Given the description of an element on the screen output the (x, y) to click on. 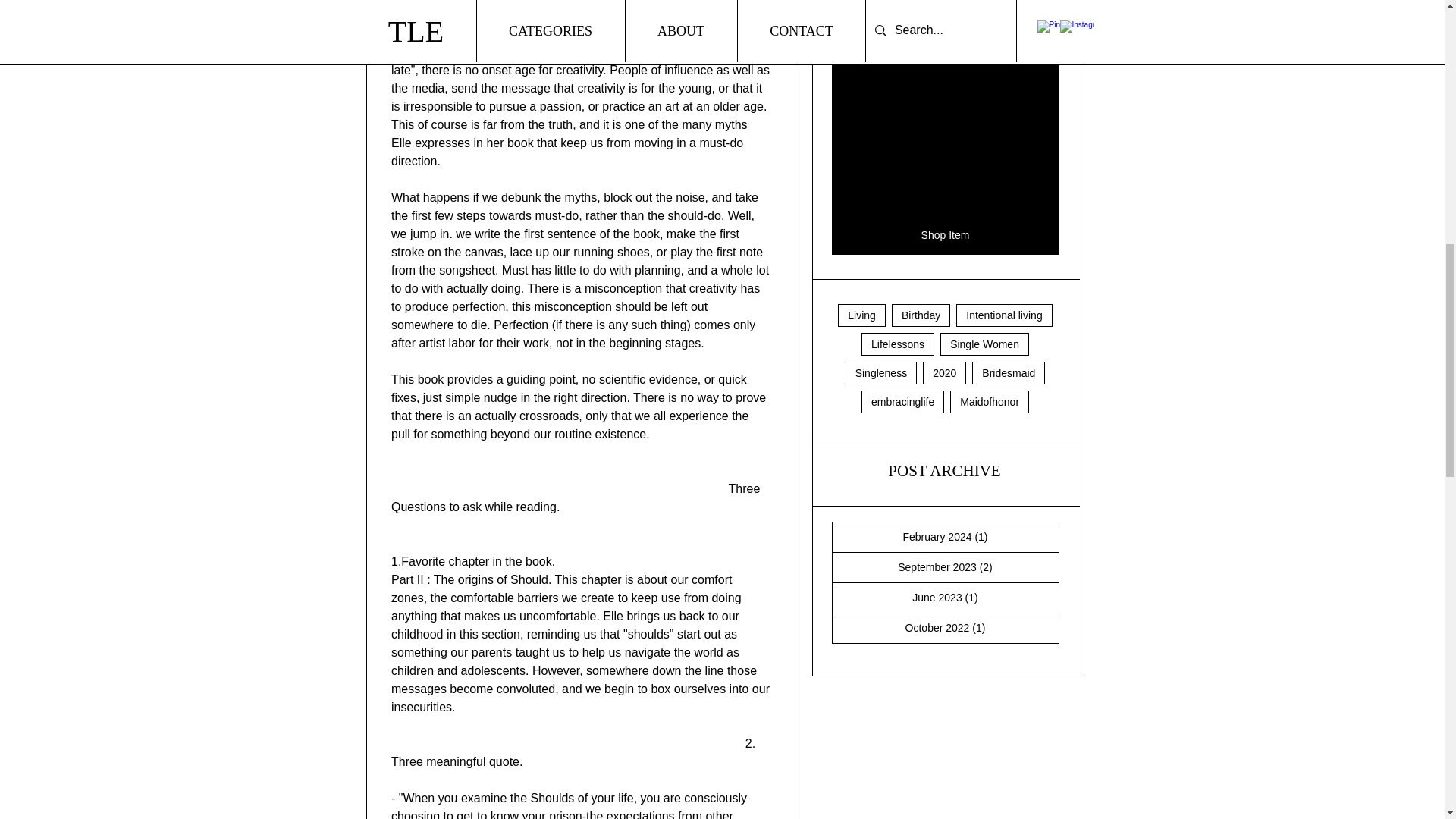
Maidofhonor (989, 401)
Lifelessons (897, 343)
Birthday (920, 314)
Intentional living (1003, 314)
Single Women (984, 343)
Singleness (881, 372)
Living (861, 314)
embracinglife (902, 401)
Bridesmaid (1008, 372)
2020 (944, 372)
